Given the description of an element on the screen output the (x, y) to click on. 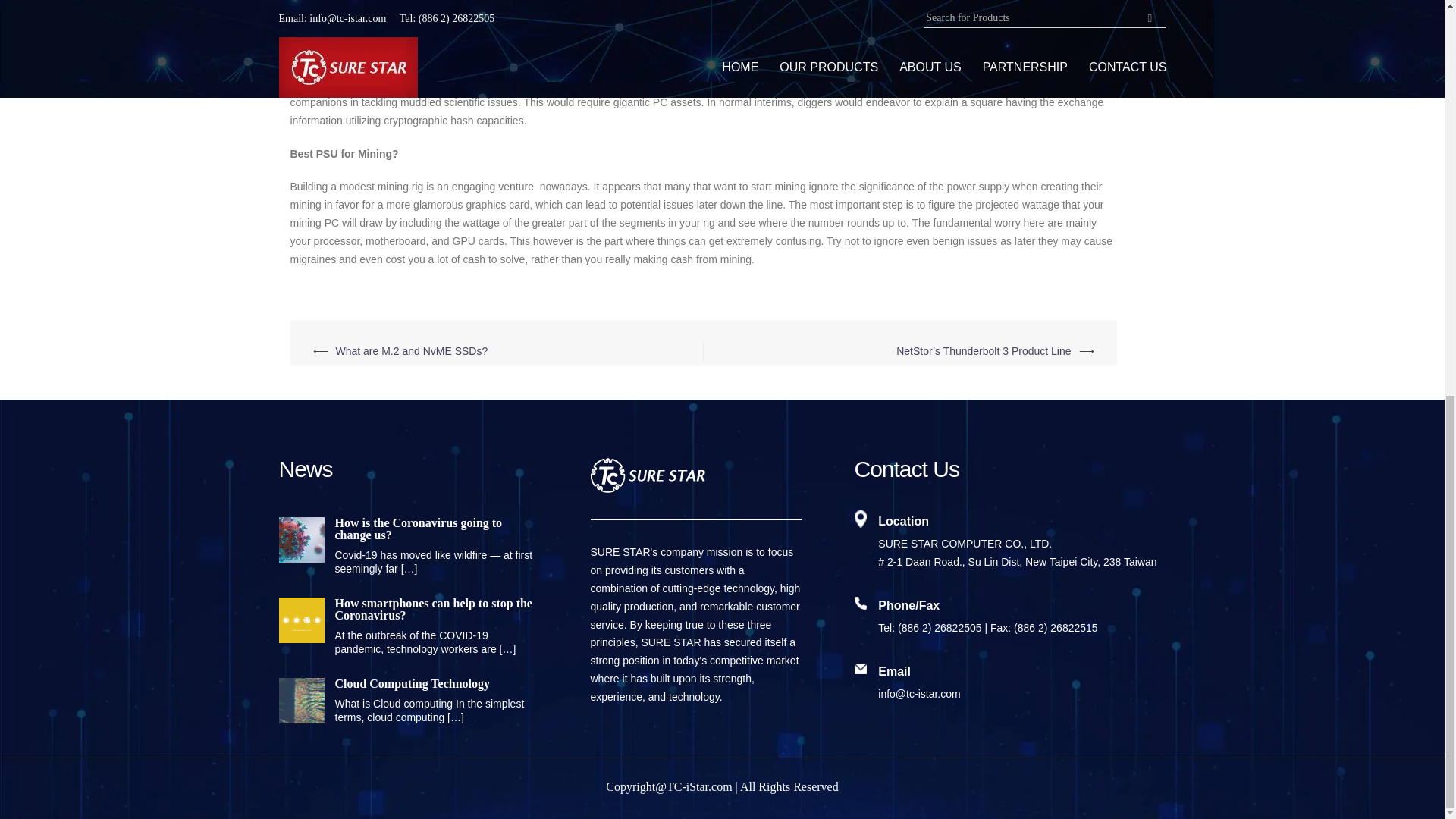
What are M.2 and NvME SSDs? (410, 350)
How smartphones can help to stop the Coronavirus? (405, 609)
Cloud Computing Technology (405, 684)
How is the Coronavirus going to change us? (405, 528)
